Given the description of an element on the screen output the (x, y) to click on. 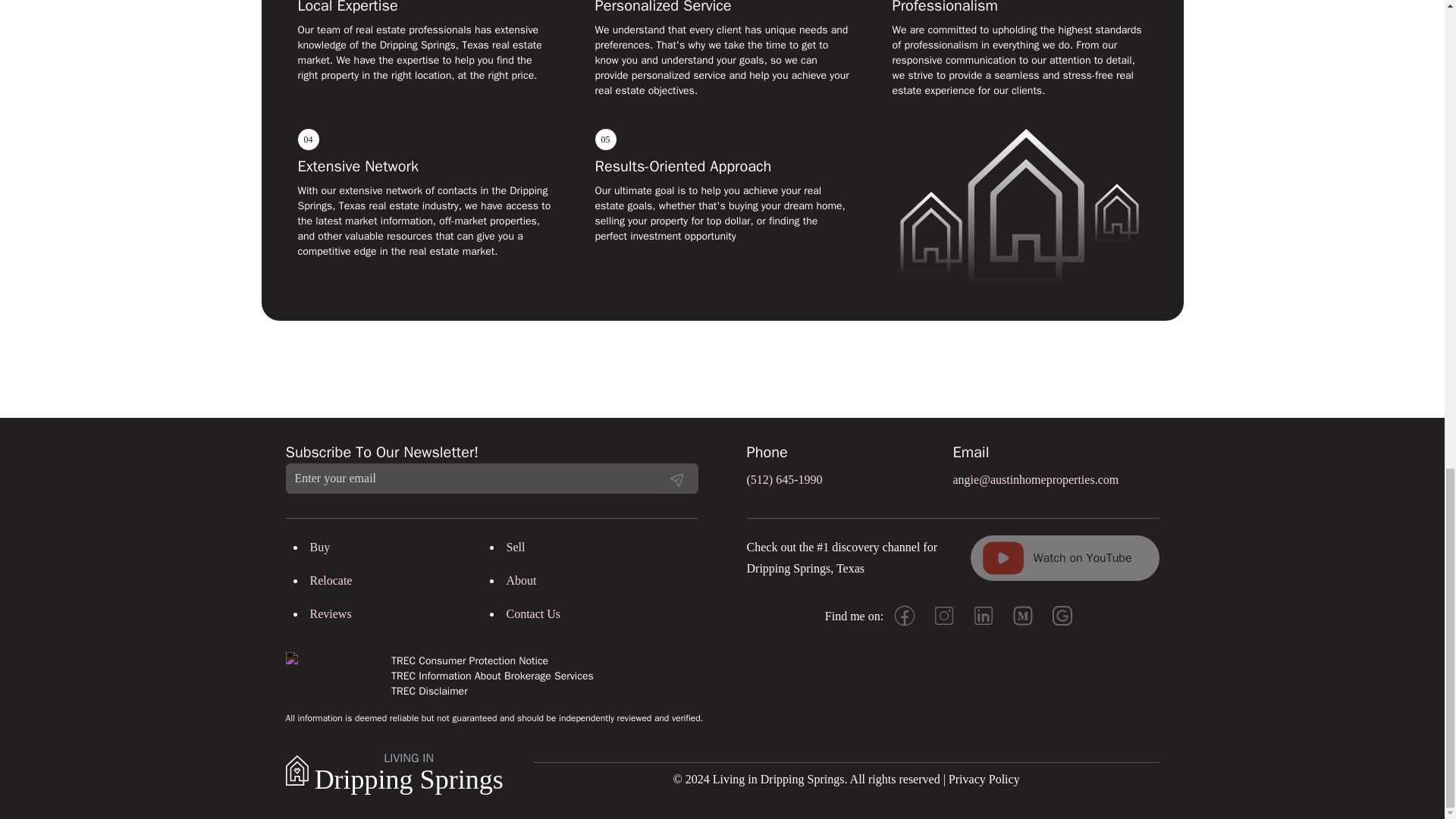
TREC Disclaimer (492, 691)
Medium (1022, 615)
Google (1061, 615)
Facebook (904, 615)
Privacy Policy (984, 779)
About (521, 580)
TREC Consumer Protection Notice (492, 661)
Relocate (330, 580)
Instagram (944, 615)
Facebook (904, 615)
